Given the description of an element on the screen output the (x, y) to click on. 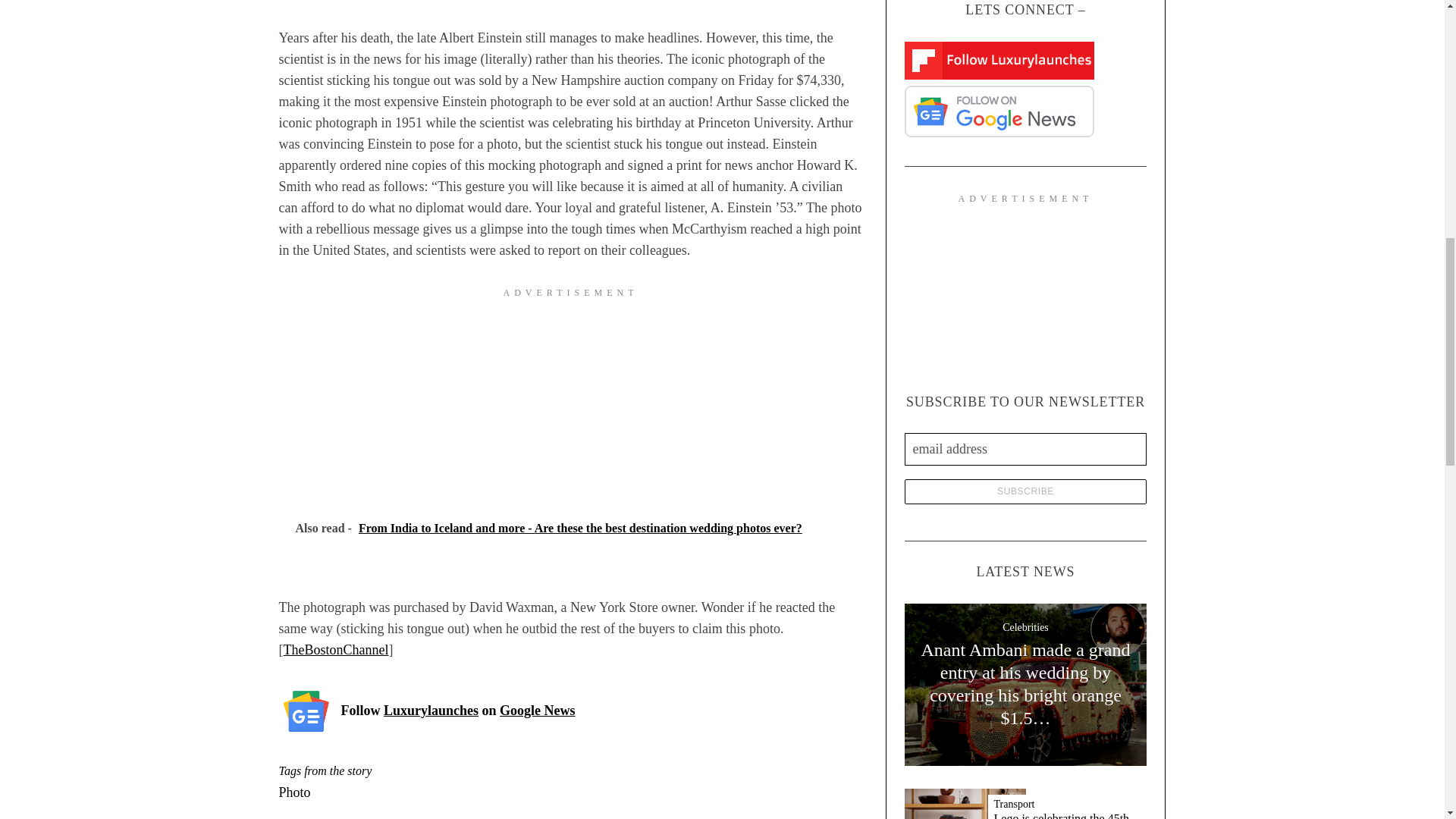
TheBostonChannel (335, 649)
Photo (295, 792)
Follow Luxurylaunches on Google News (457, 710)
Subscribe (1025, 491)
